Given the description of an element on the screen output the (x, y) to click on. 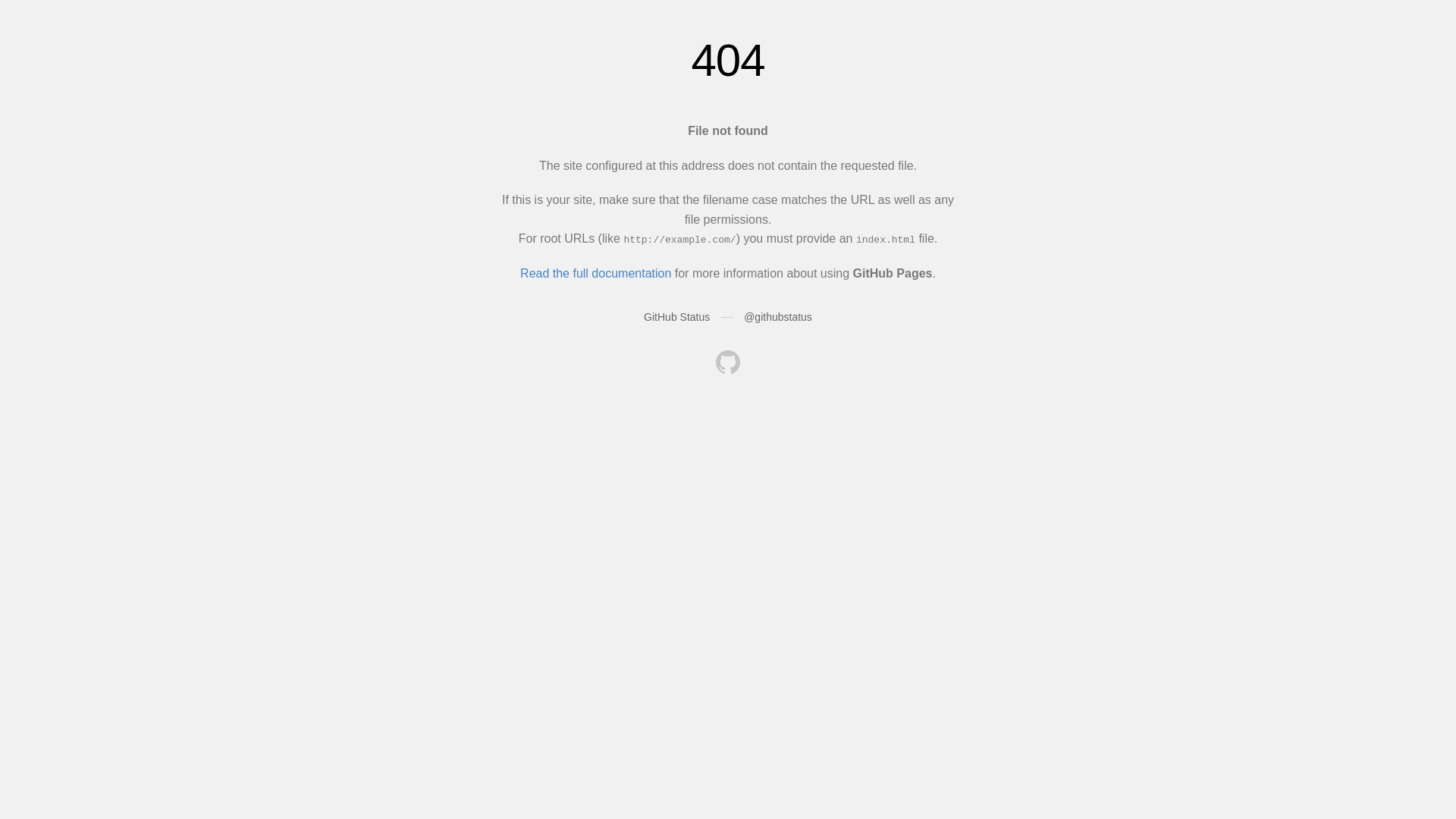
@githubstatus Element type: text (777, 316)
GitHub Status Element type: text (676, 316)
Read the full documentation Element type: text (595, 272)
